Given the description of an element on the screen output the (x, y) to click on. 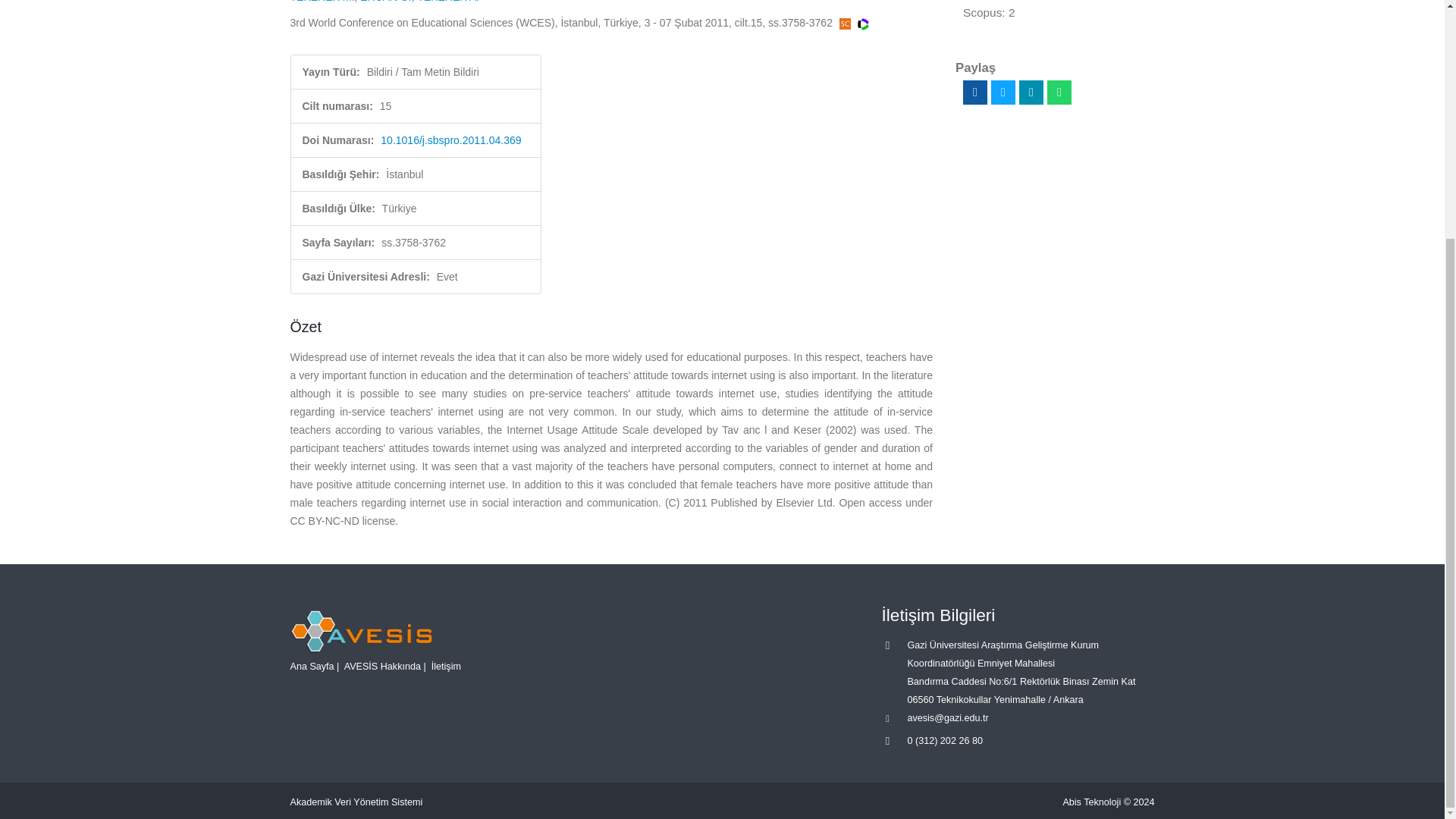
TEKEREK A. (447, 1)
TEKEREK M. (321, 1)
Abis Teknoloji (1091, 801)
ERCAN O. (385, 1)
Ana Sayfa (311, 665)
